Given the description of an element on the screen output the (x, y) to click on. 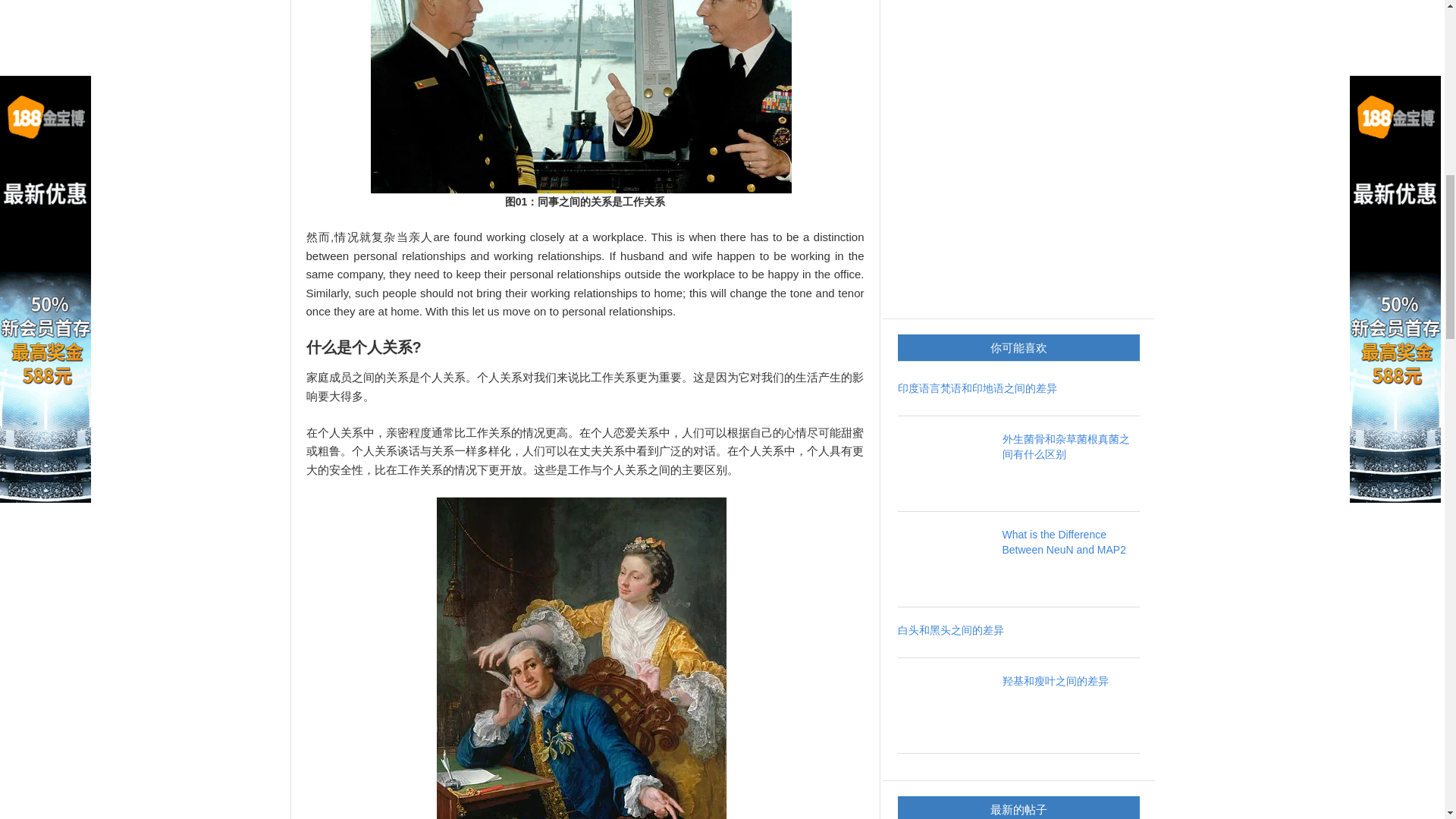
Difference Between Working and Personal Relationships 2 (581, 658)
Difference Between Working and Personal Relationships 1 (581, 96)
